Given the description of an element on the screen output the (x, y) to click on. 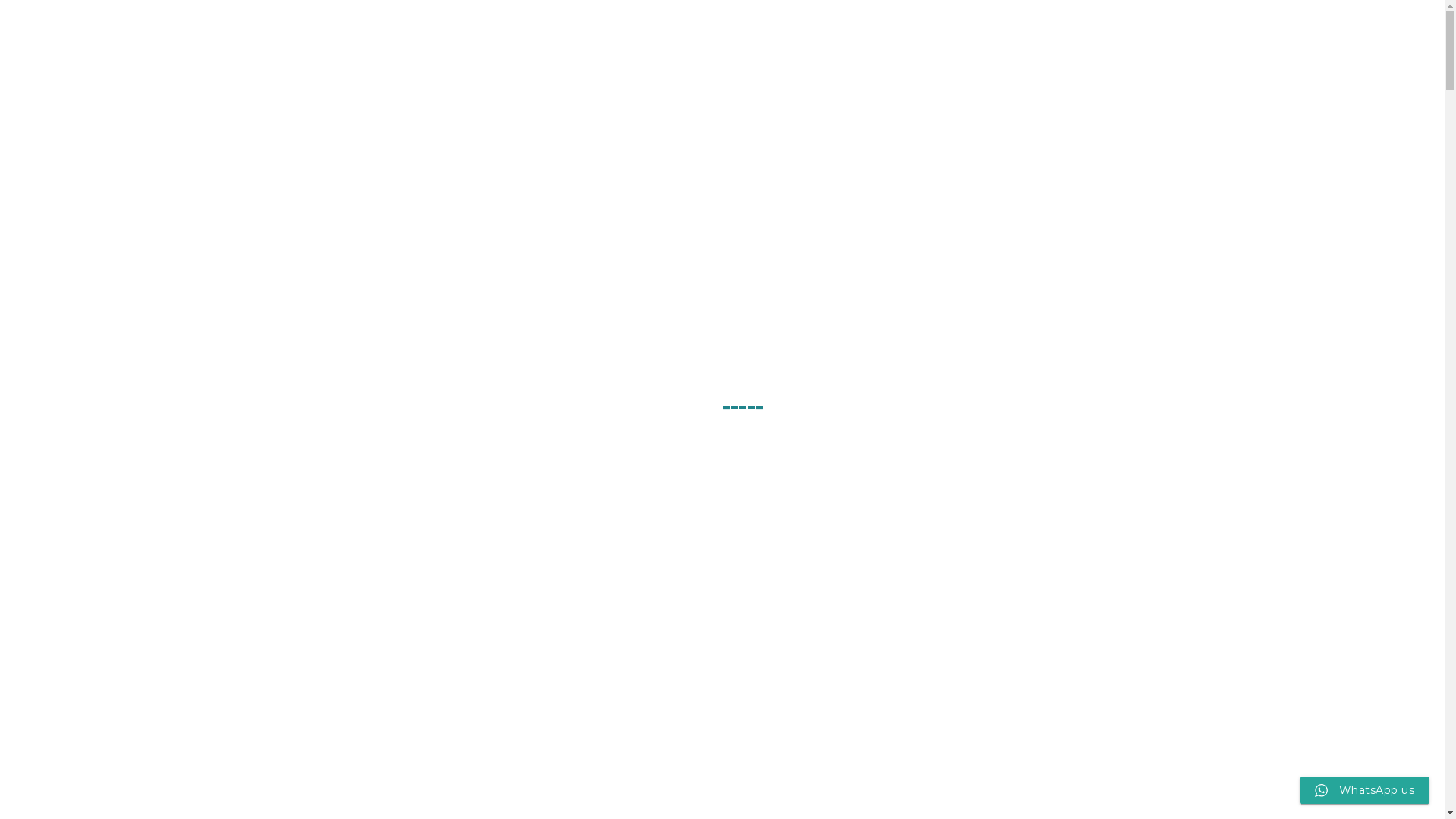
TECIDOS Element type: text (701, 56)
CONTATO Element type: text (1079, 56)
Blog Element type: text (1162, 14)
HOME Element type: text (635, 56)
